Given the description of an element on the screen output the (x, y) to click on. 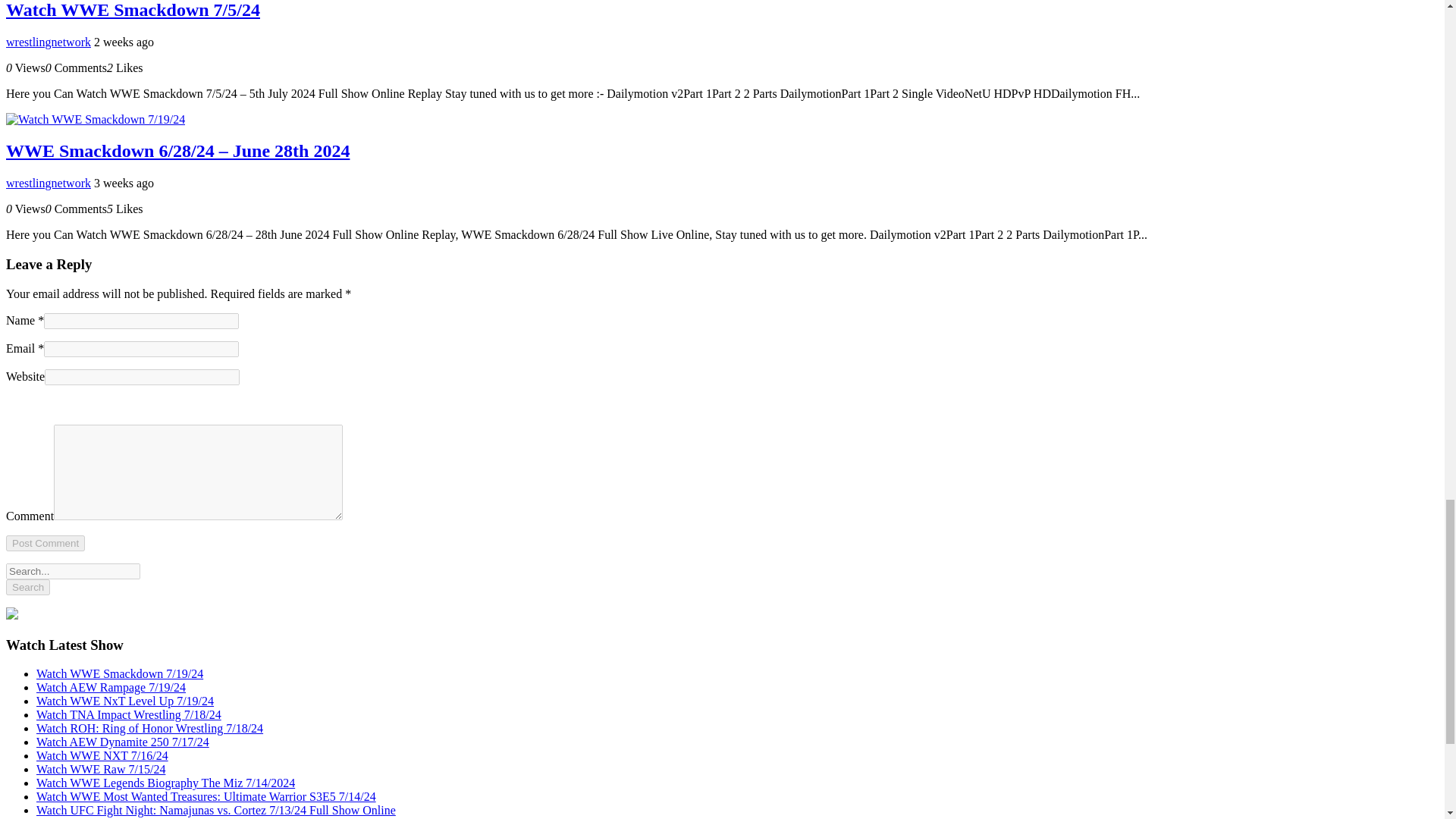
Search (27, 587)
Search (27, 587)
View all posts by wrestlingnetwork (47, 42)
Post Comment (44, 543)
